Given the description of an element on the screen output the (x, y) to click on. 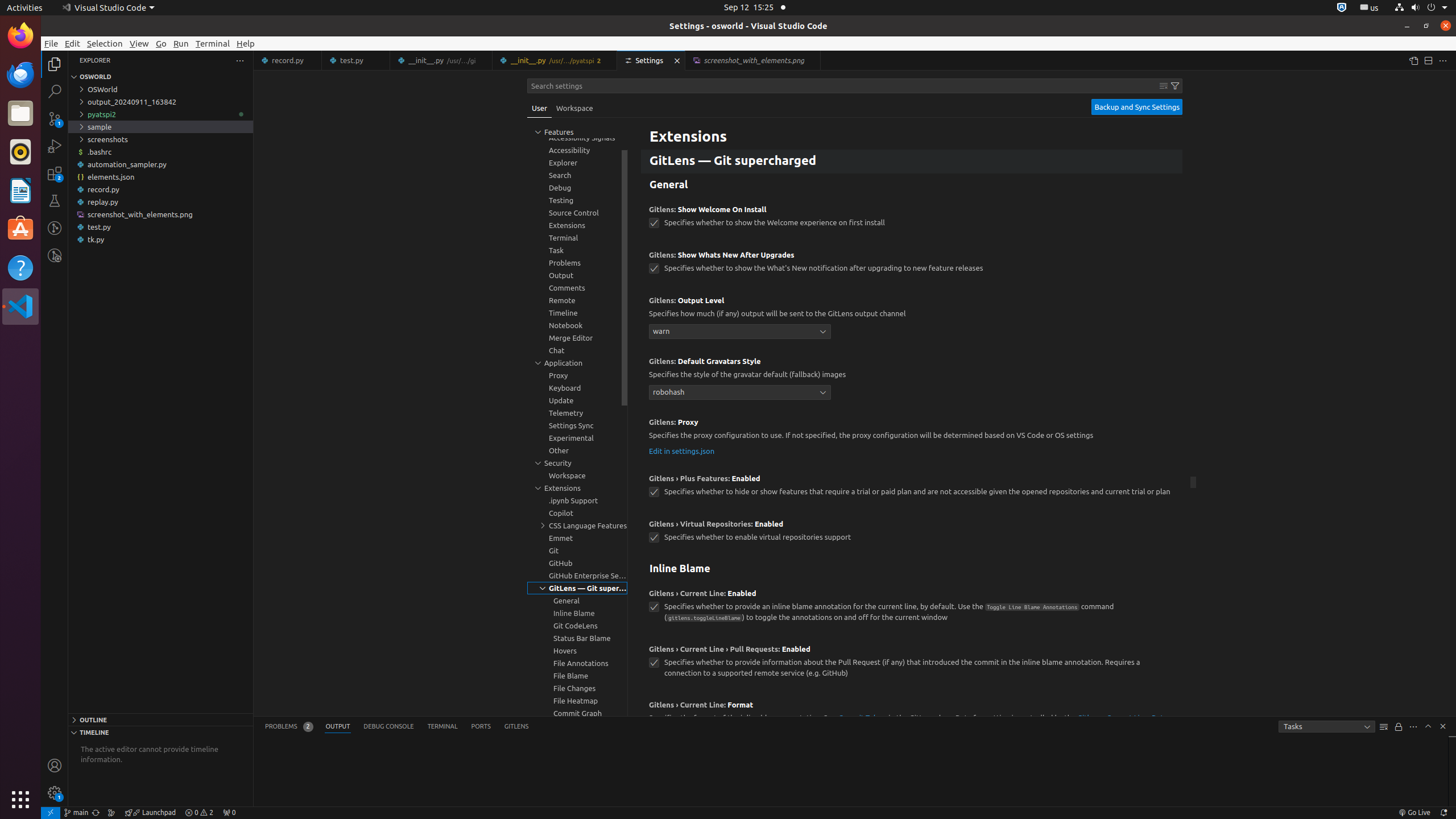
Timeline Section Element type: push-button (160, 731)
gitlens.showWhatsNewAfterUpgrades Element type: check-box (653, 268)
rocket gitlens-unplug Launchpad, GitLens Launchpad ᴘʀᴇᴠɪᴇᴡ    &mdash;    [$(question)](command:gitlens.launchpad.indicator.action?%22info%22 "What is this?") [$(gear)](command:workbench.action.openSettings?%22gitlens.launchpad%22 "Settings")  |  [$(circle-slash) Hide](command:gitlens.launchpad.indicator.action?%22hide%22 "Hide") --- [Launchpad](command:gitlens.launchpad.indicator.action?%info%22 "Learn about Launchpad") organizes your pull requests into actionable groups to help you focus and keep your team unblocked. It's always accessible using the `GitLens: Open Launchpad` command from the Command Palette. --- [Connect an integration](command:gitlens.showLaunchpad?%7B%22source%22%3A%22launchpad-indicator%22%7D "Connect an integration") to get started. Element type: push-button (150, 812)
Output (Ctrl+K Ctrl+H) Element type: page-tab (337, 726)
Keyboard, group Element type: tree-item (577, 387)
